Given the description of an element on the screen output the (x, y) to click on. 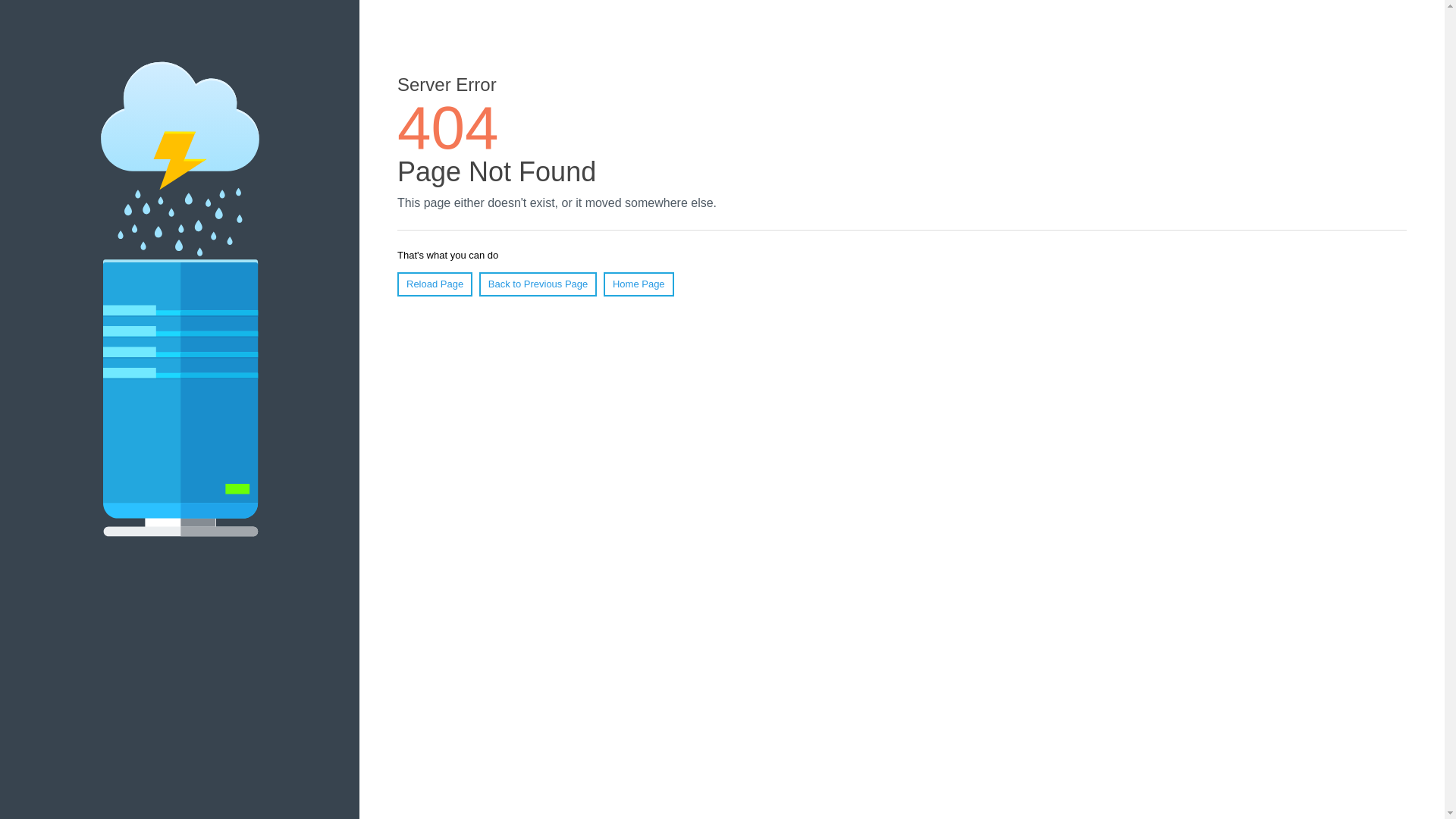
Back to Previous Page Element type: text (538, 284)
Reload Page Element type: text (434, 284)
Home Page Element type: text (638, 284)
